Given the description of an element on the screen output the (x, y) to click on. 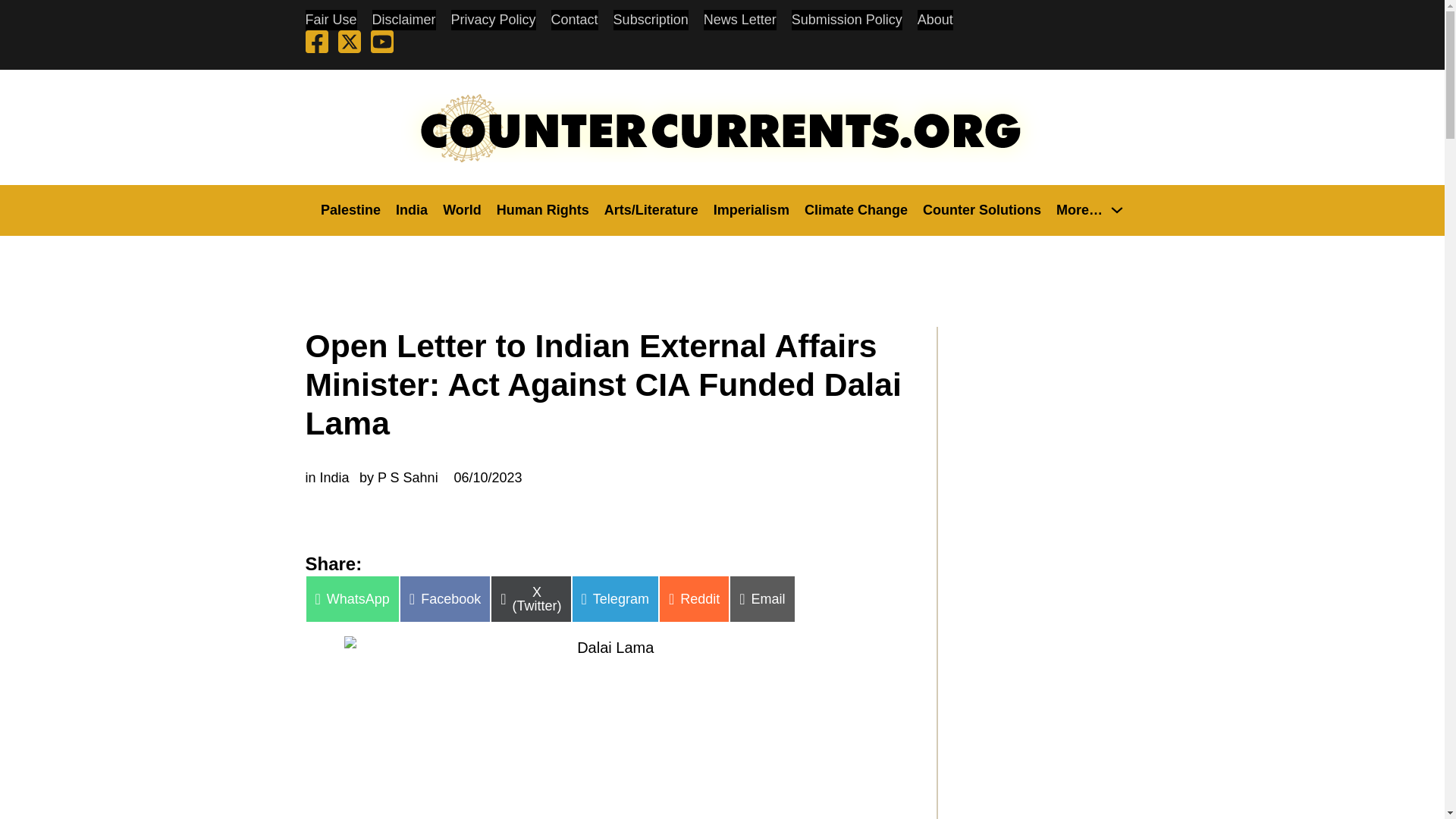
Privacy Policy (493, 19)
Fair Use (330, 19)
Subscription (650, 19)
About (935, 19)
Submission Policy (847, 19)
Counter Solutions (982, 209)
Palestine (350, 209)
Contact (574, 19)
News Letter (739, 19)
